Given the description of an element on the screen output the (x, y) to click on. 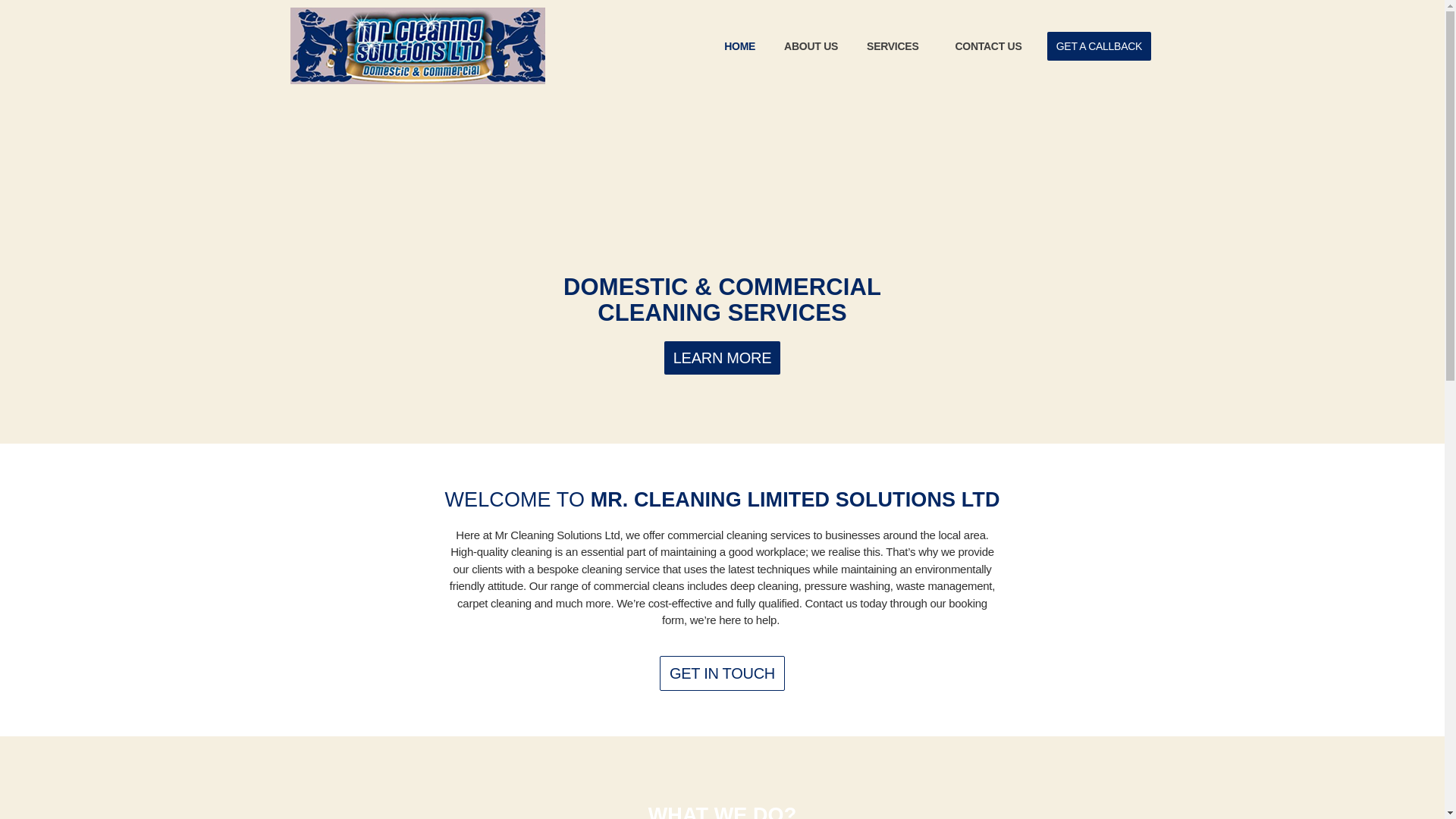
ABOUT US (810, 45)
LEARN MORE (721, 357)
GET IN TOUCH (721, 673)
GET A CALLBACK (1098, 45)
CONTACT US (987, 45)
HOME (739, 45)
SERVICES (896, 45)
